Given the description of an element on the screen output the (x, y) to click on. 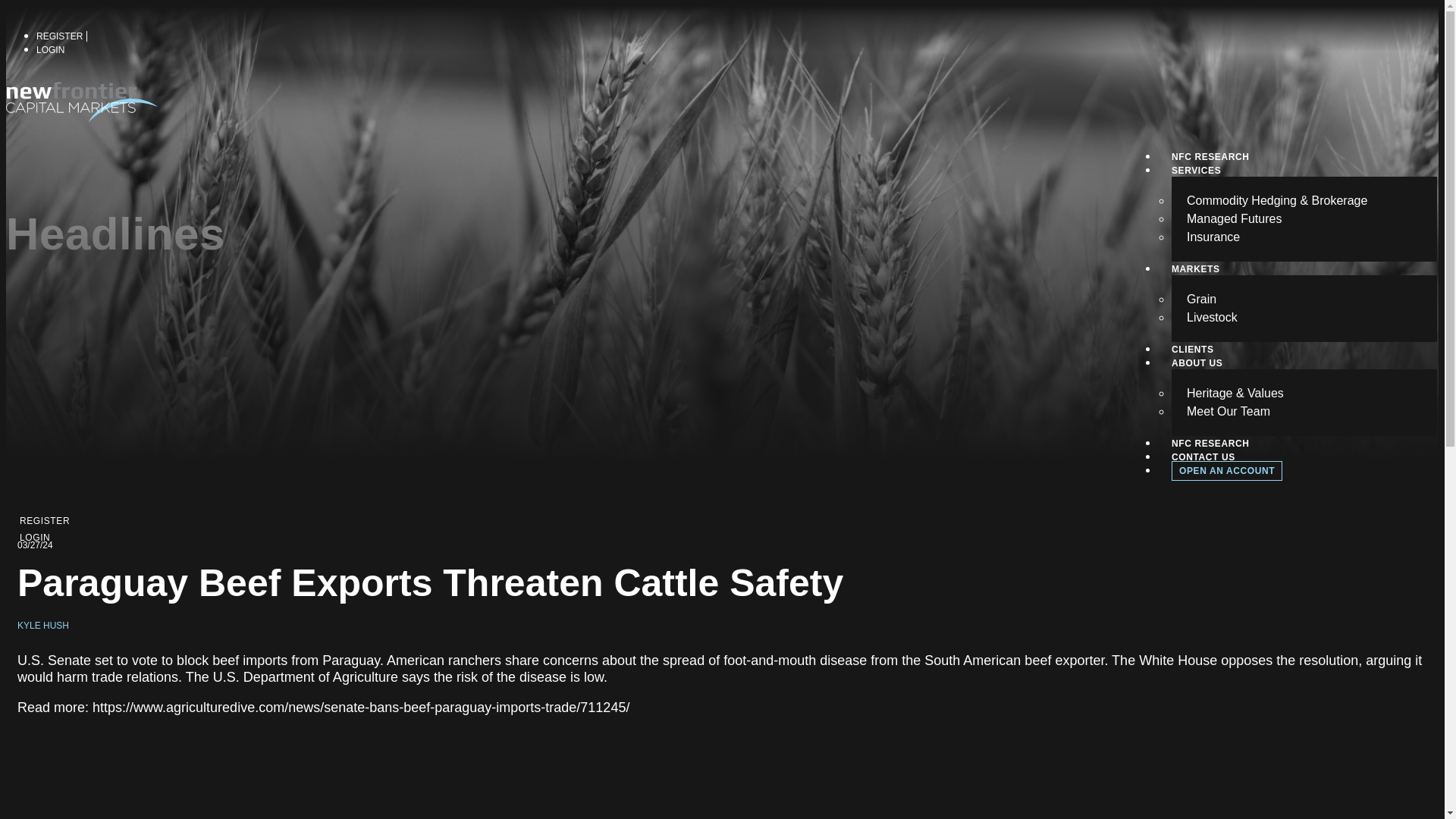
NFC Research (1210, 452)
OPEN AN ACCOUNT (1227, 470)
Markets (1196, 278)
NFC RESEARCH (1210, 452)
MARKETS (1196, 278)
NFC RESEARCH (1210, 166)
REGISTER (44, 529)
Contact Us (1203, 466)
NFC Research (1210, 166)
ABOUT US (1197, 372)
CONTACT US (1203, 466)
Open an account (1227, 470)
Clients (1193, 358)
CLIENTS (1193, 358)
